Given the description of an element on the screen output the (x, y) to click on. 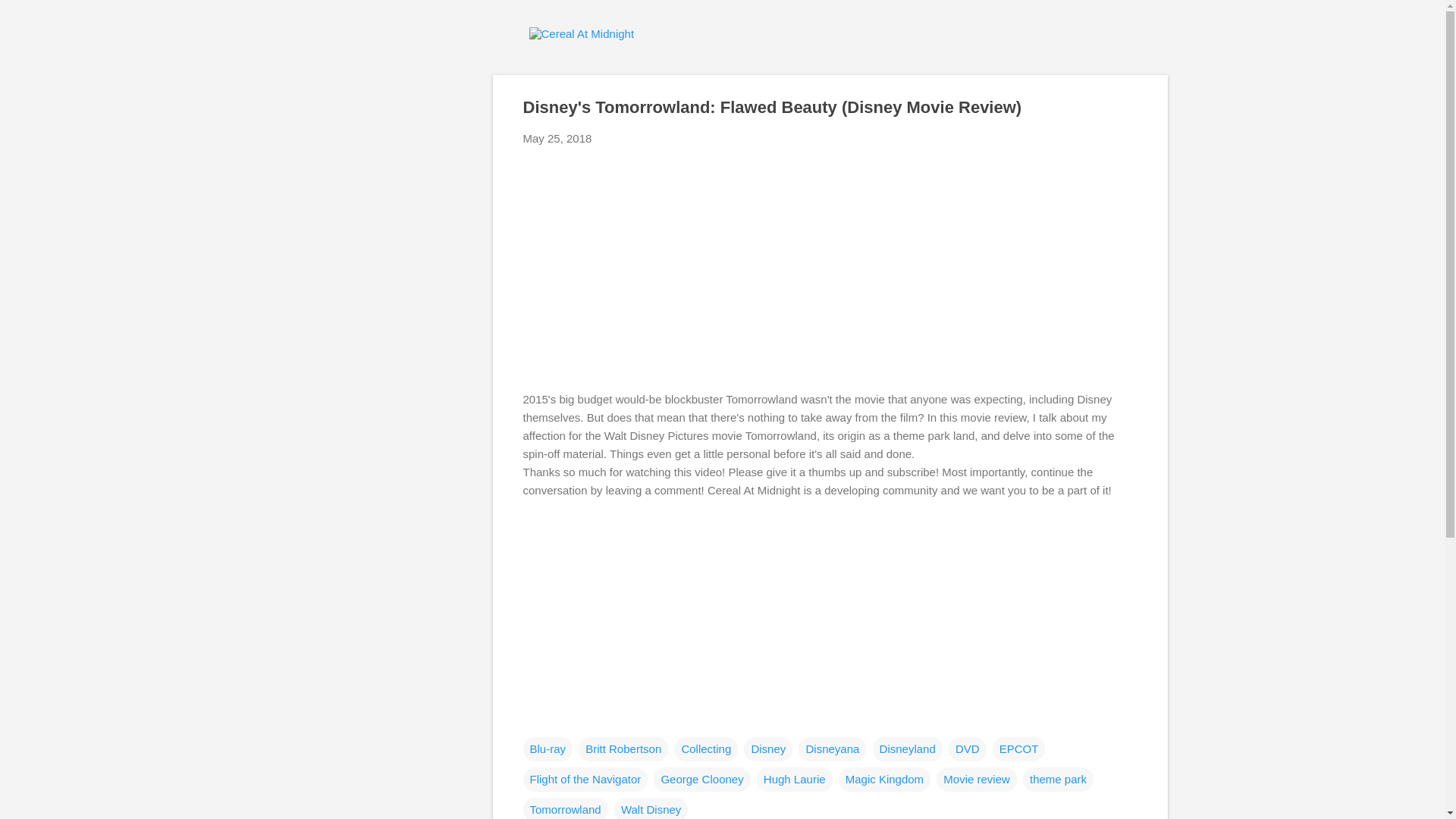
Flight of the Navigator (584, 779)
Hugh Laurie (794, 779)
theme park (1058, 779)
Britt Robertson (623, 749)
Blu-ray (547, 749)
Magic Kingdom (884, 779)
May 25, 2018 (557, 137)
George Clooney (701, 779)
EPCOT (1018, 749)
Search (29, 18)
